Given the description of an element on the screen output the (x, y) to click on. 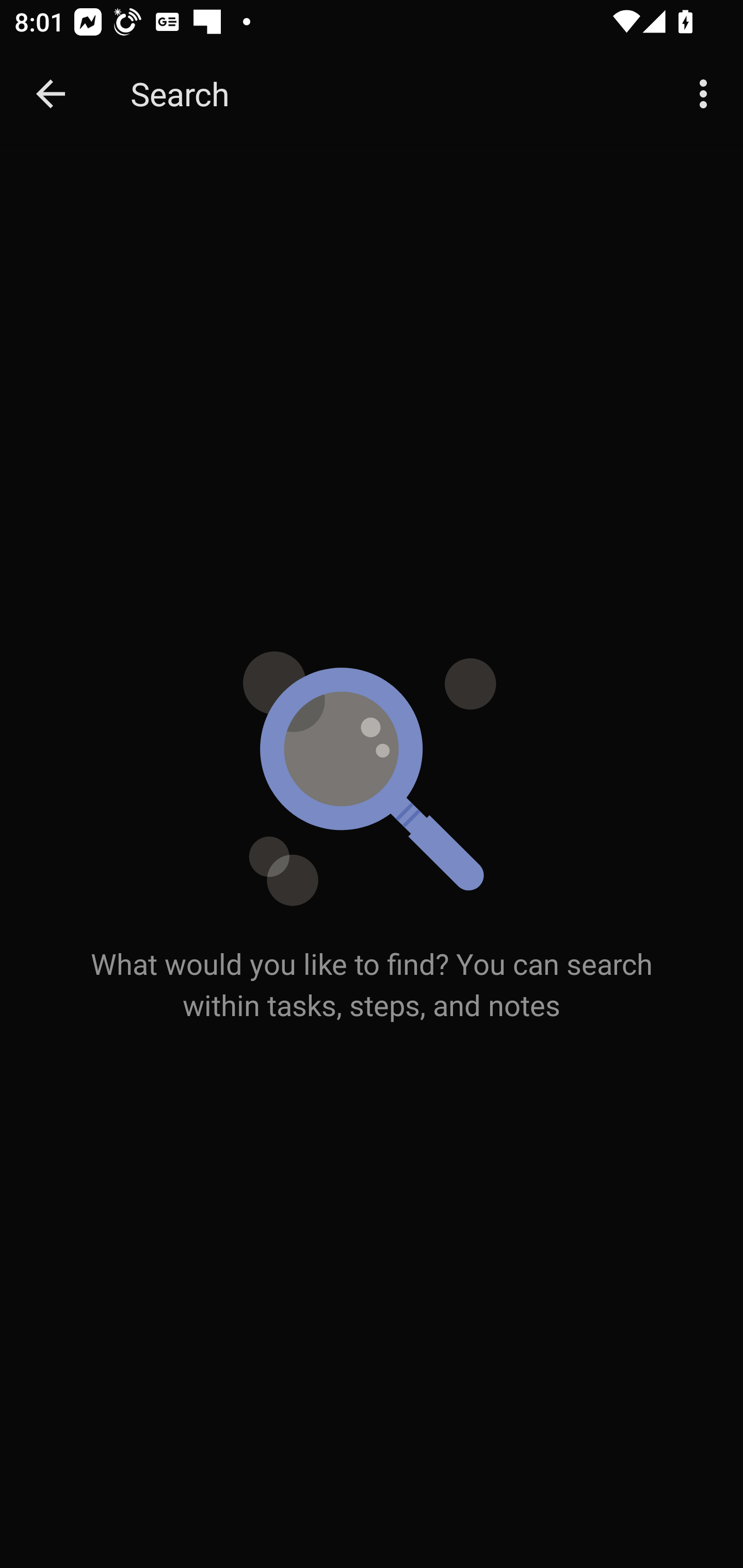
Navigate up (50, 93)
More options (706, 93)
Search (393, 94)
